Given the description of an element on the screen output the (x, y) to click on. 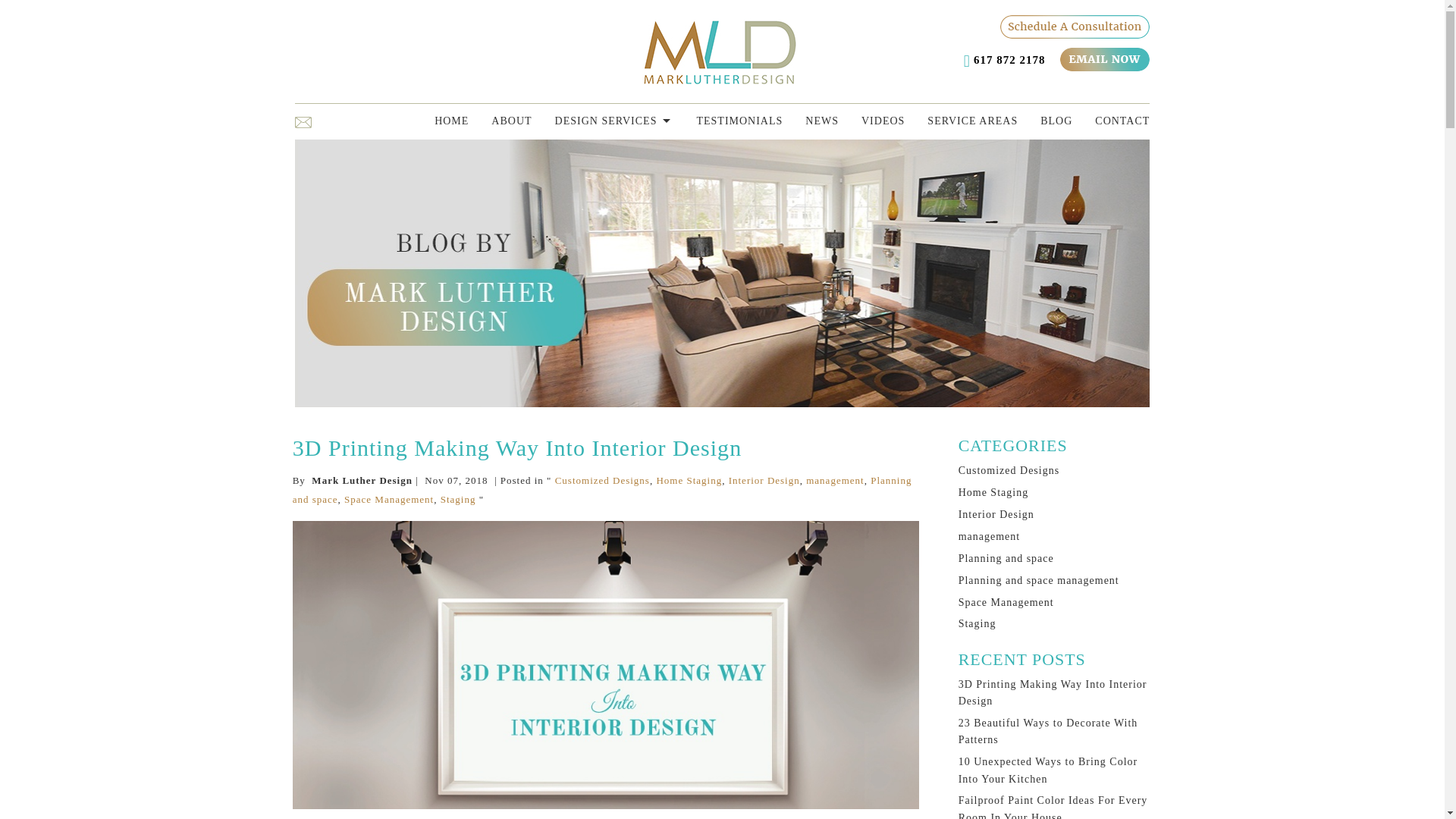
Customized Designs (601, 480)
BLOG (1044, 121)
3D Printing Making Way Into Interior Design (516, 447)
TESTIMONIALS (727, 121)
NEWS (810, 121)
Planning and space (602, 490)
DESIGN SERVICES (603, 121)
CONTACT (1110, 121)
Interior Design (764, 480)
Home Staging (689, 480)
